Given the description of an element on the screen output the (x, y) to click on. 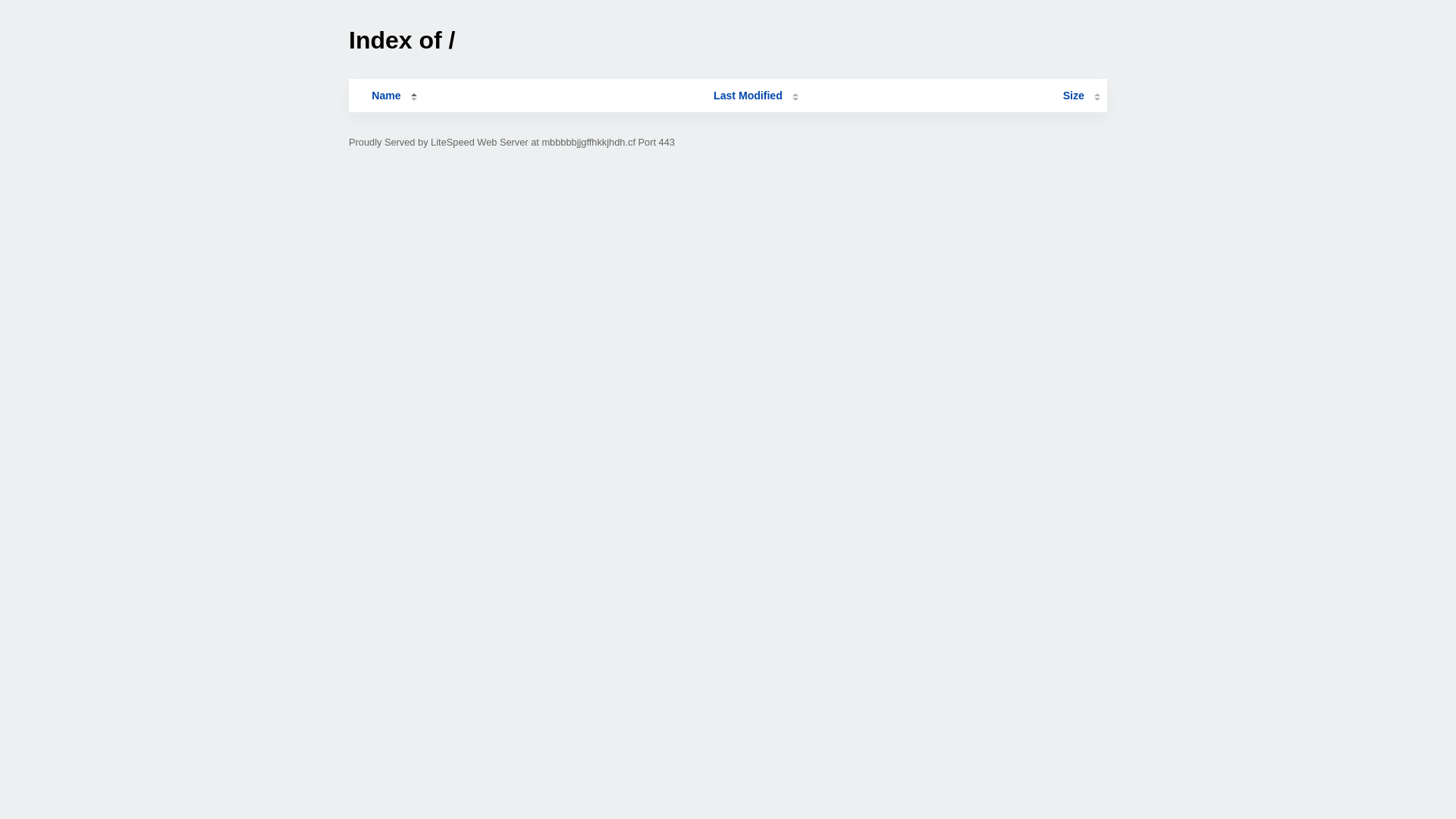
Name Element type: text (385, 95)
Last Modified Element type: text (755, 95)
Size Element type: text (1081, 95)
